Given the description of an element on the screen output the (x, y) to click on. 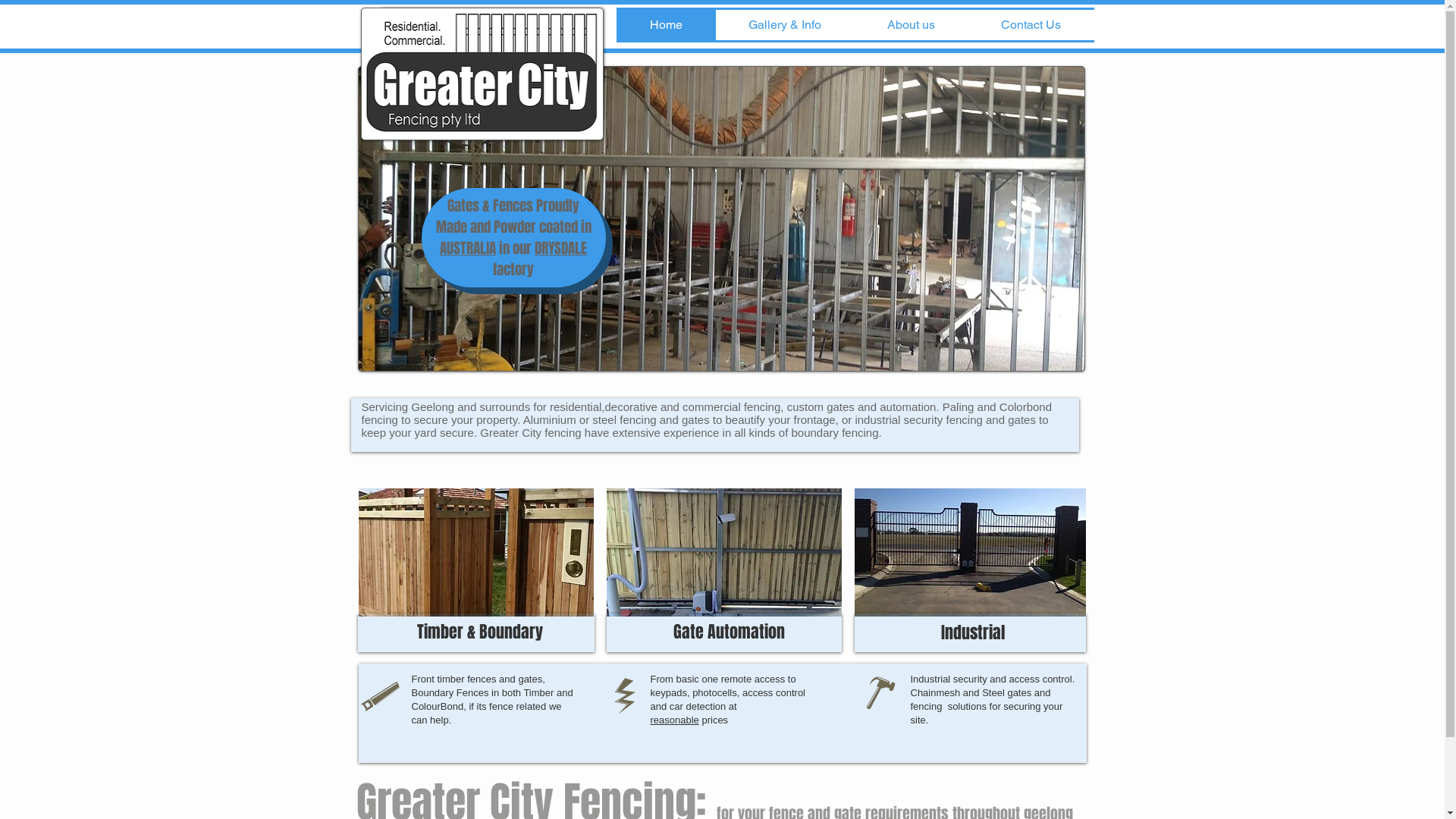
GCFgrey-edited_edited.png Element type: hover (481, 73)
Contact Us Element type: text (1030, 24)
image (16).jpeg Element type: hover (475, 552)
image (7).jpeg Element type: hover (723, 552)
Gallery & Info Element type: text (784, 24)
image (10).jpeg Element type: hover (721, 218)
About us Element type: text (910, 24)
Home Element type: text (665, 24)
IMG_1595.JPG Element type: hover (969, 552)
